Given the description of an element on the screen output the (x, y) to click on. 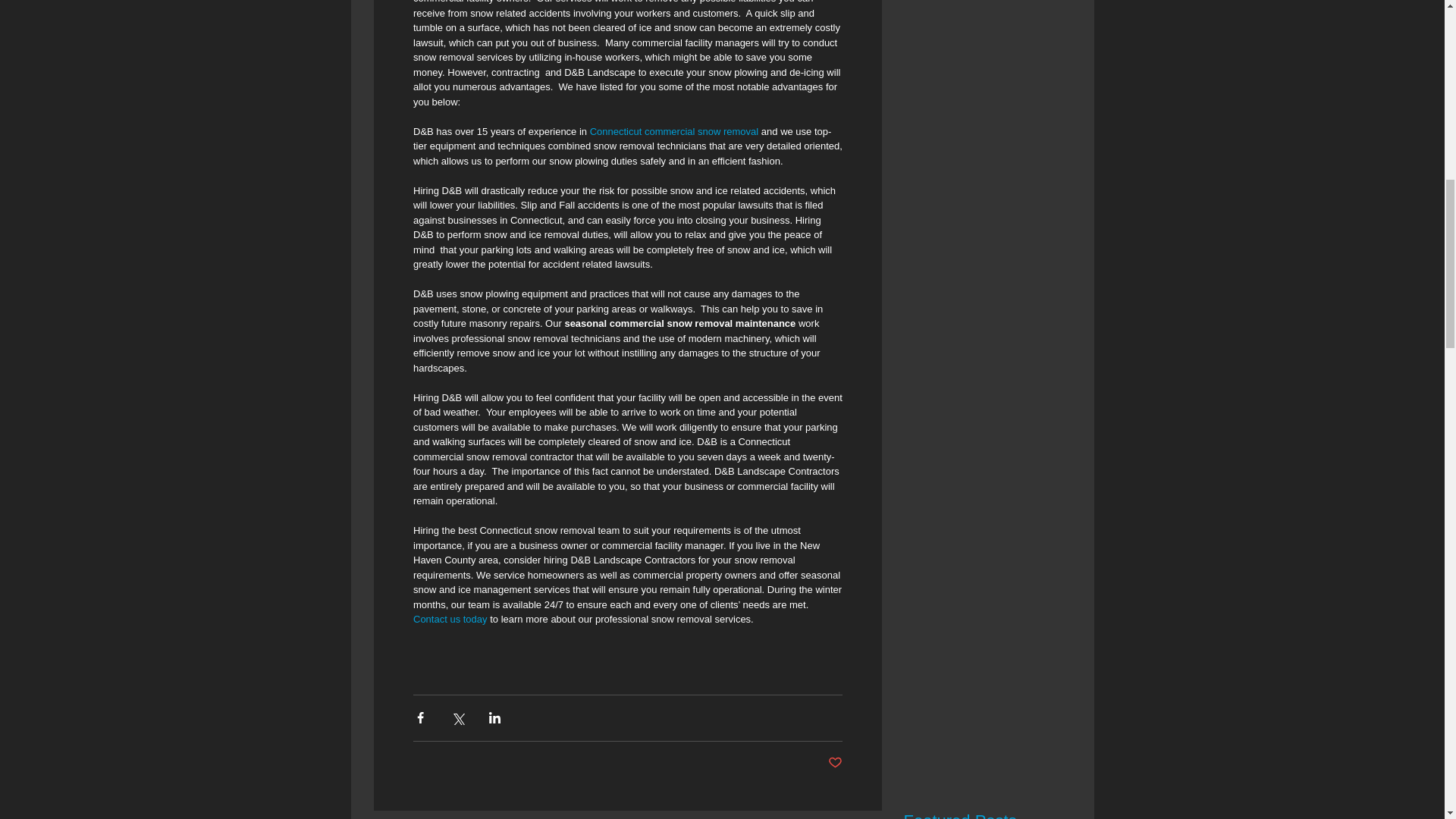
Post not marked as liked (835, 763)
Contact us today (449, 618)
Connecticut commercial snow removal (673, 131)
